Given the description of an element on the screen output the (x, y) to click on. 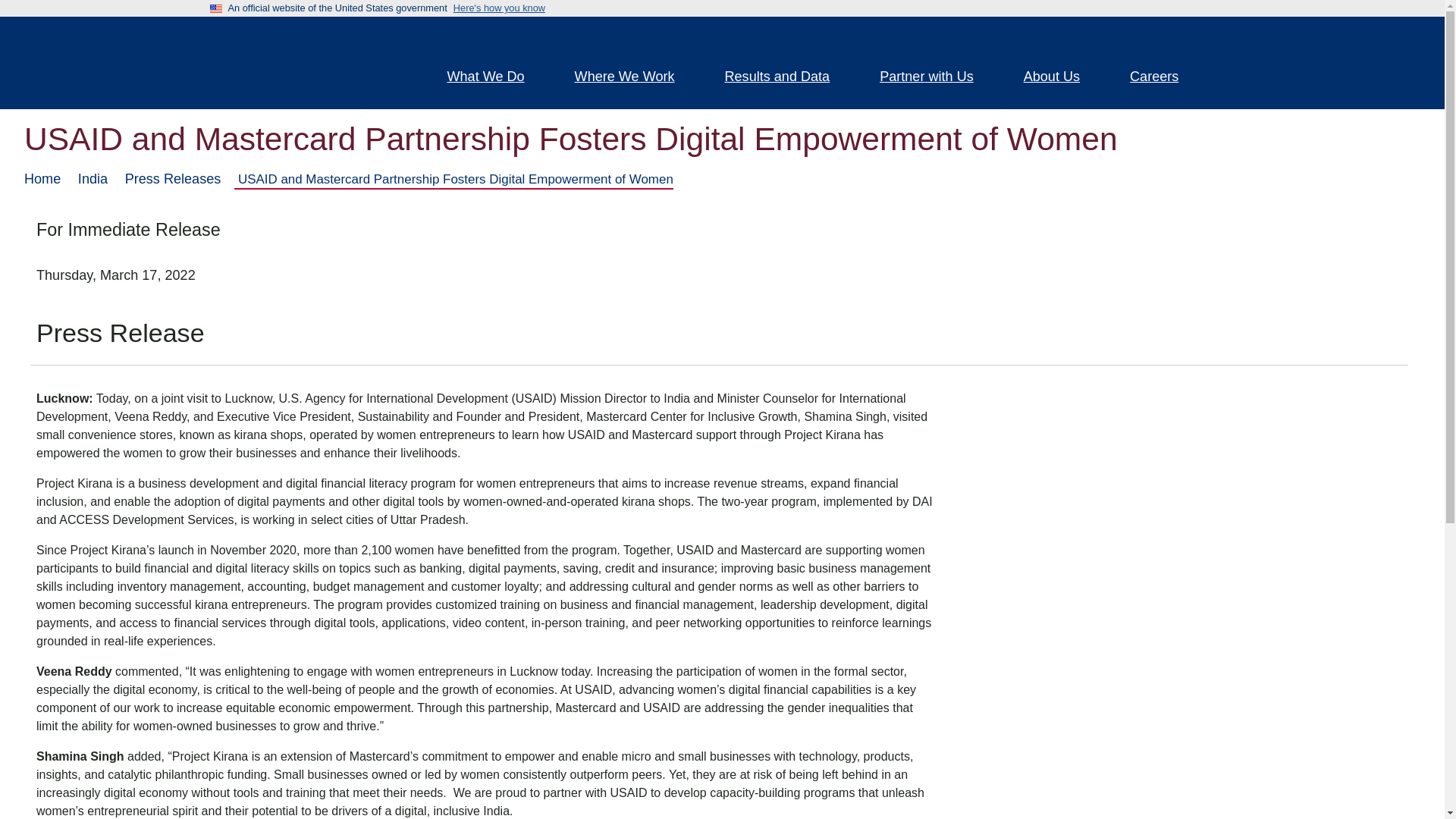
India (92, 178)
Where We Work (634, 78)
Careers (1162, 78)
Press Releases (173, 178)
About Us (1060, 78)
Here's how you know (498, 8)
Results and Data (786, 78)
Home (42, 178)
Partner with Us (935, 78)
What We Do (493, 78)
Home (304, 62)
